Given the description of an element on the screen output the (x, y) to click on. 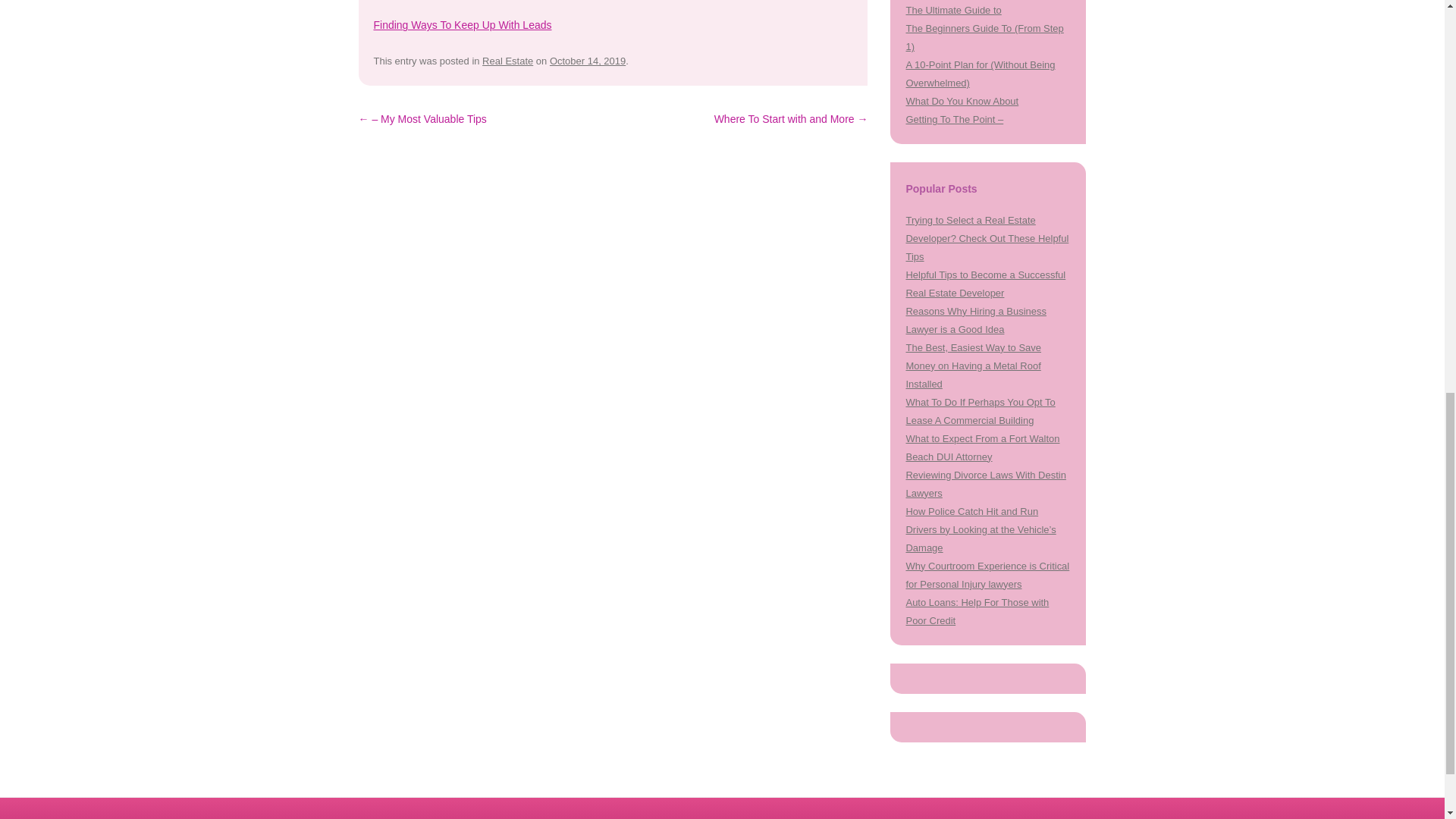
Reviewing Divorce Laws With Destin Lawyers (985, 483)
What to Expect From a Fort Walton Beach DUI Attorney (982, 447)
Real Estate (506, 60)
The Ultimate Guide to (953, 9)
October 14, 2019 (588, 60)
Auto Loans: Help For Those with Poor Credit (976, 611)
Reasons Why Hiring a Business Lawyer is a Good Idea (975, 319)
Finding Ways To Keep Up With Leads (461, 24)
